Given the description of an element on the screen output the (x, y) to click on. 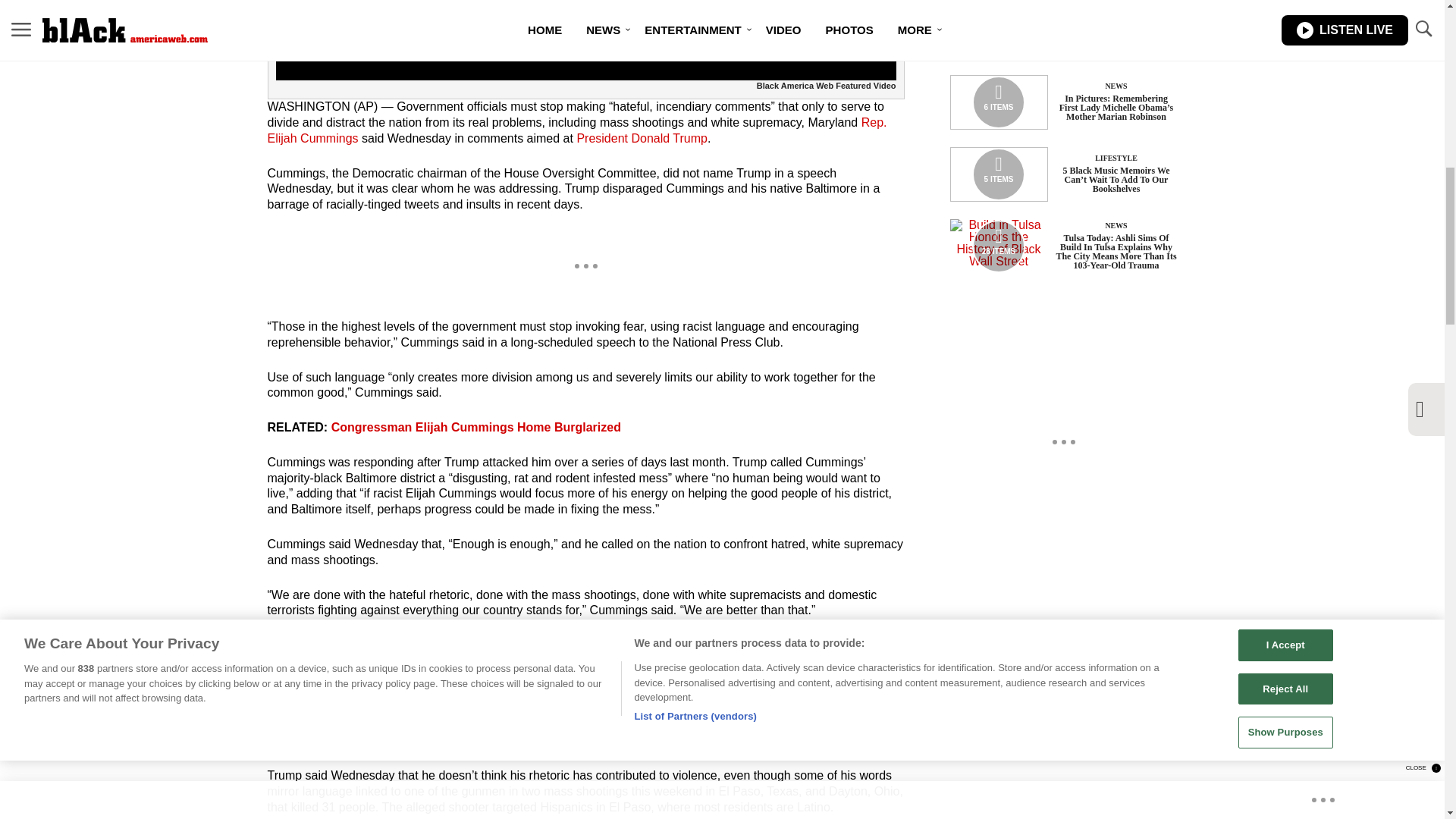
Media Playlist (998, 246)
Rep. Elijah Cummings (576, 130)
Media Playlist (998, 102)
Media Playlist (998, 30)
Media Playlist (998, 174)
